Given the description of an element on the screen output the (x, y) to click on. 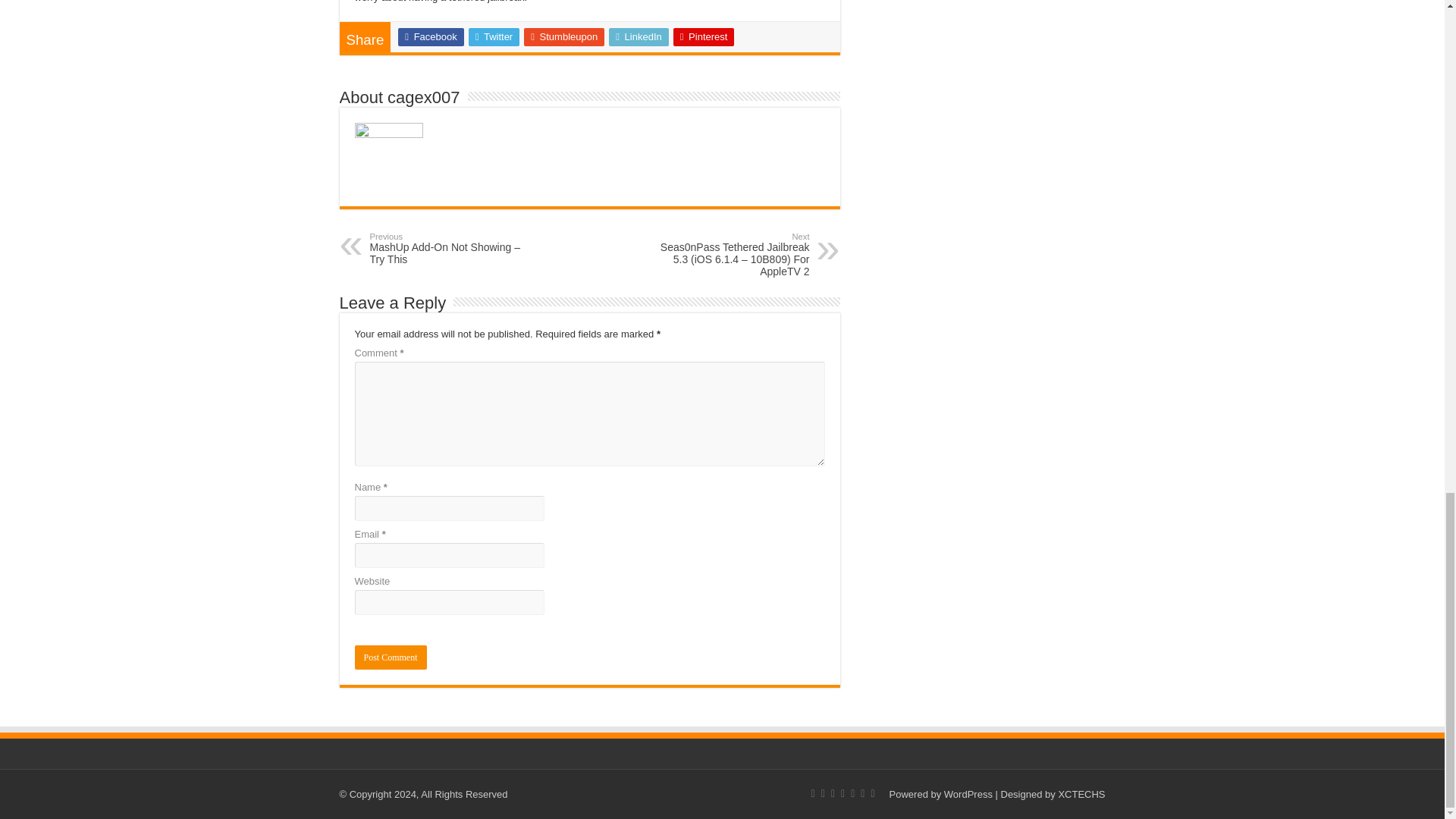
Stumbleupon (564, 36)
Twitter (493, 36)
Facebook (430, 36)
LinkedIn (638, 36)
Pinterest (703, 36)
Post Comment (390, 657)
Please wait until Google reCAPTCHA is loaded. (390, 657)
